Given the description of an element on the screen output the (x, y) to click on. 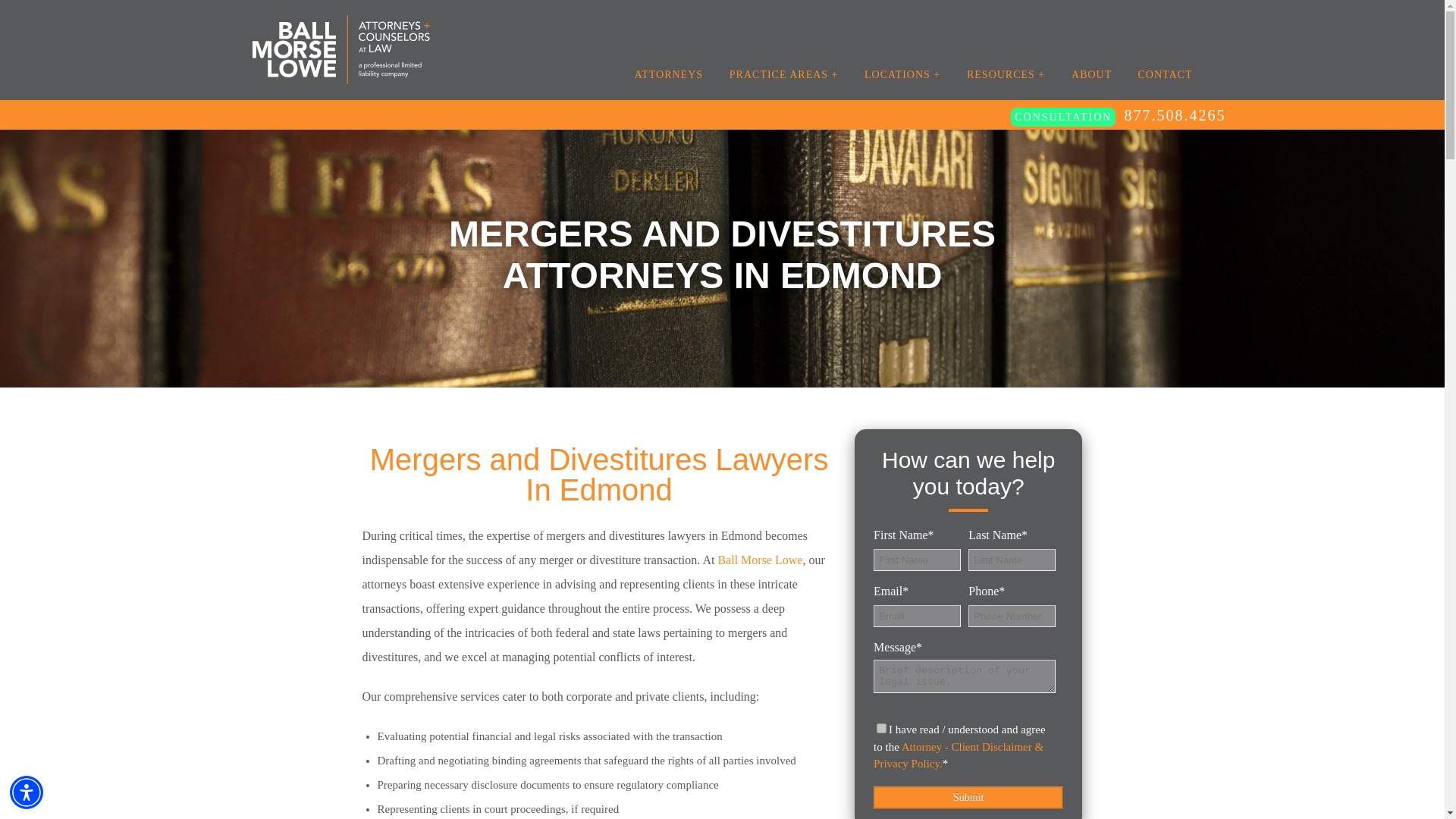
ABOUT (1091, 74)
Submit (967, 796)
true (881, 728)
Accessibility Menu (26, 792)
ATTORNEYS (668, 74)
